Given the description of an element on the screen output the (x, y) to click on. 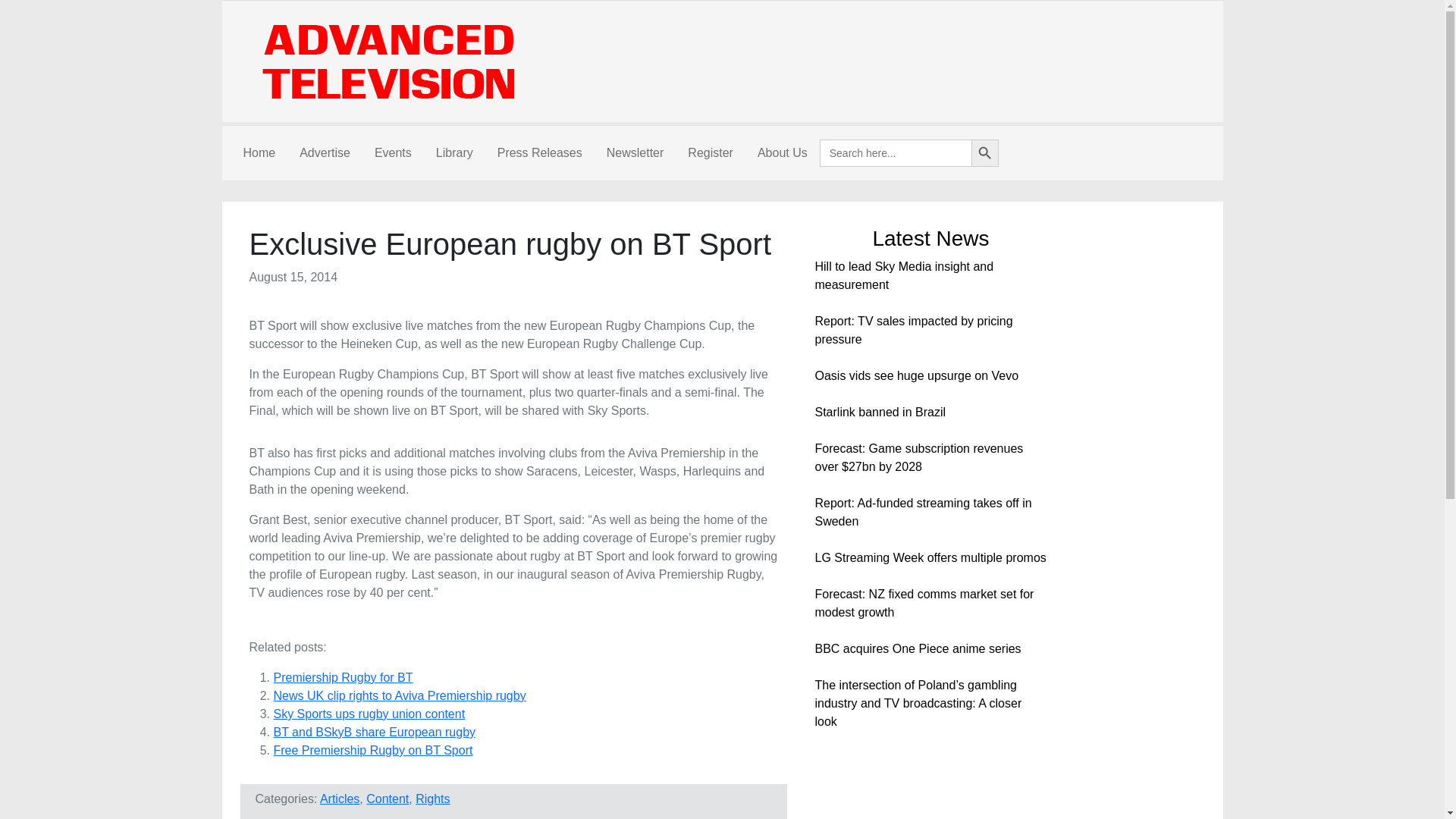
BBC acquires One Piece anime series (916, 648)
Events (392, 153)
Search Button (984, 153)
News UK clip rights to Aviva Premiership rugby (399, 695)
Starlink banned in Brazil (878, 411)
Advertise (324, 153)
Hill to lead Sky Media insight and measurement (902, 275)
Premiership Rugby for BT (342, 676)
Sky Sports ups rugby union content (368, 713)
Rights (431, 798)
